Given the description of an element on the screen output the (x, y) to click on. 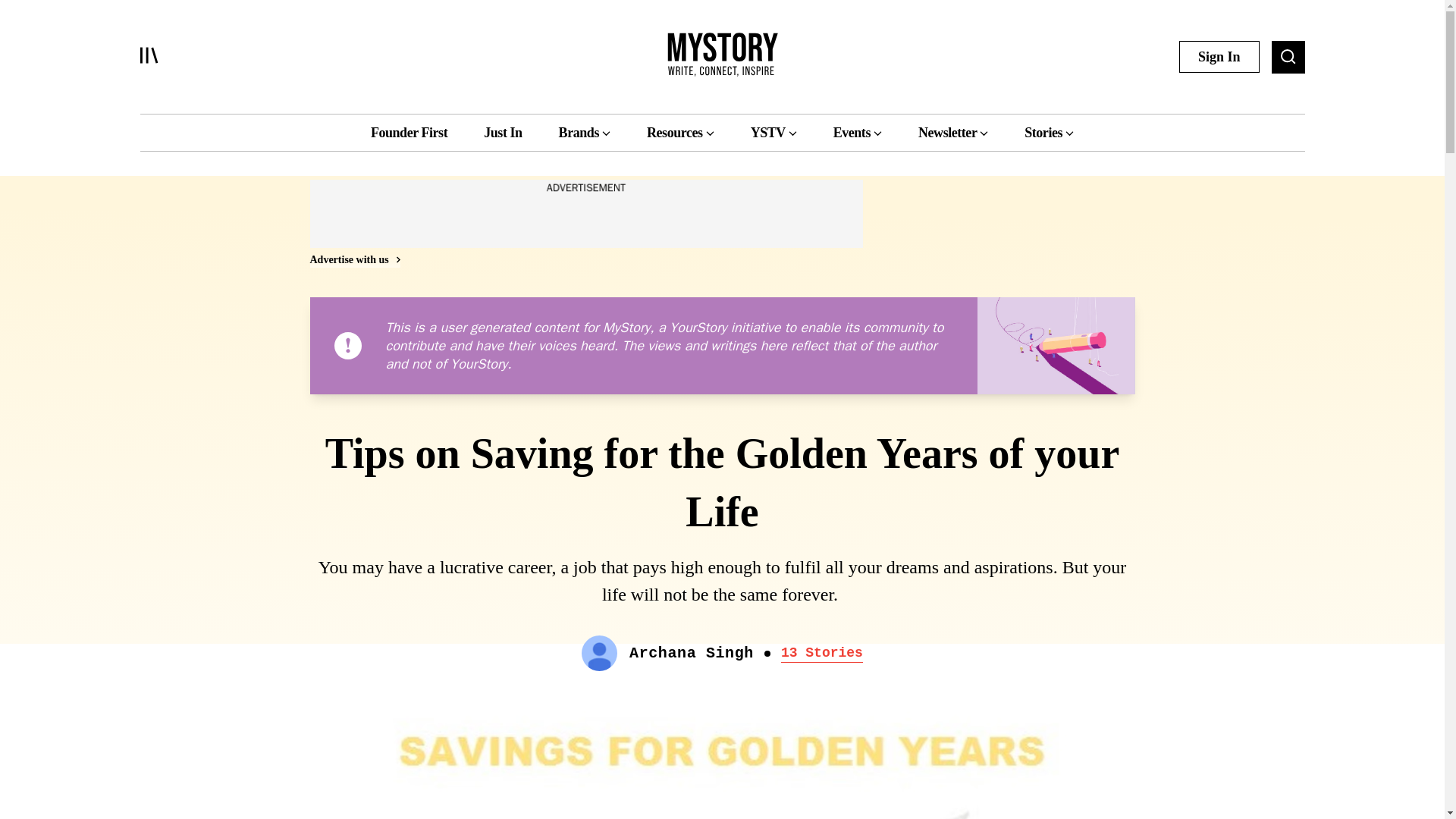
Advertise with us (353, 259)
Just In (502, 132)
Founder First (408, 132)
13 Stories (821, 653)
Archana Singh (691, 653)
